Given the description of an element on the screen output the (x, y) to click on. 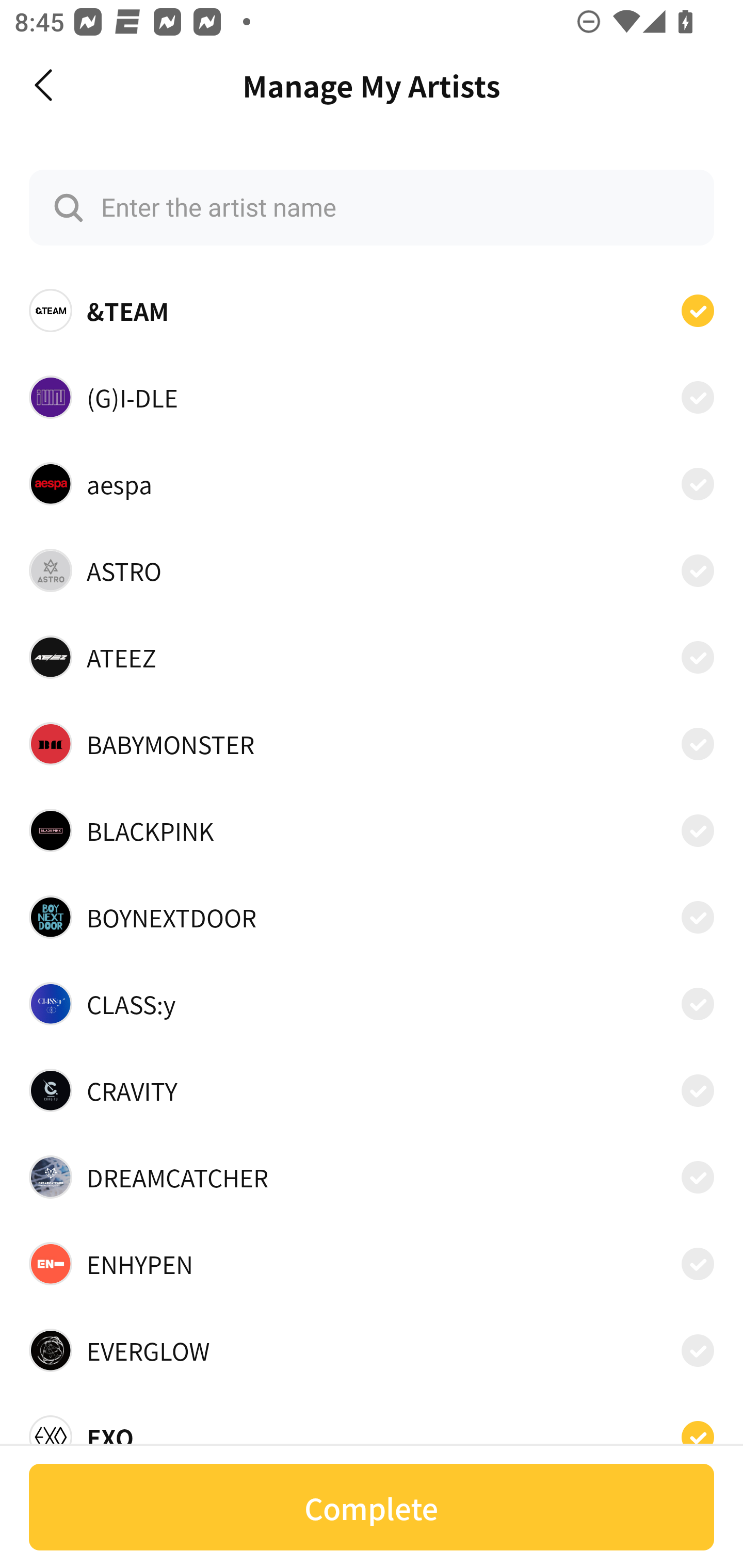
Enter the artist name (371, 207)
&TEAM (371, 310)
(G)I-DLE (371, 396)
aespa (371, 483)
ASTRO (371, 570)
ATEEZ (371, 656)
BABYMONSTER (371, 743)
BLACKPINK (371, 830)
BOYNEXTDOOR (371, 917)
CLASS:y (371, 1003)
CRAVITY (371, 1090)
DREAMCATCHER (371, 1176)
ENHYPEN (371, 1263)
EVERGLOW (371, 1350)
EXO (371, 1430)
Complete (371, 1507)
